Given the description of an element on the screen output the (x, y) to click on. 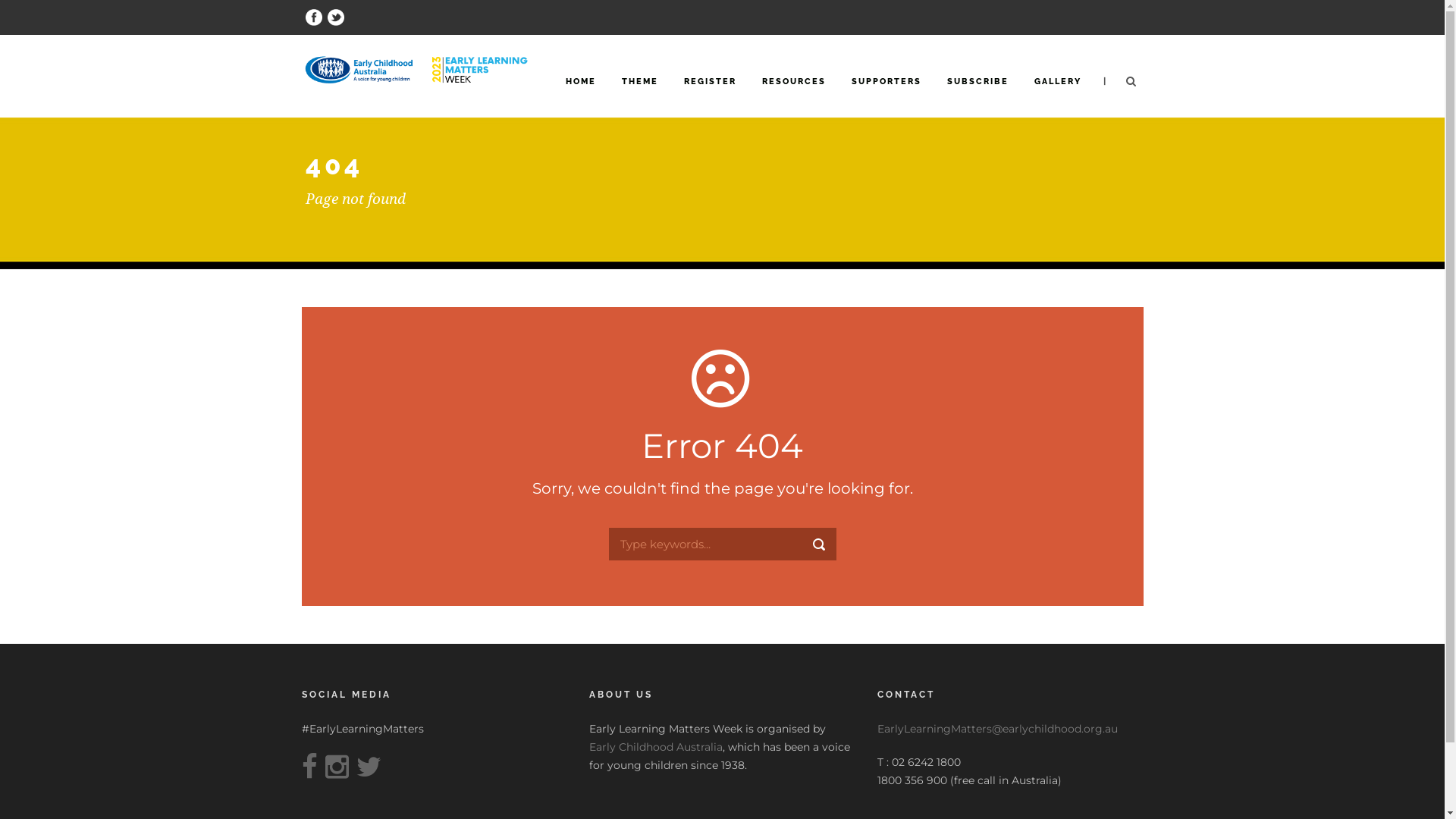
THEME Element type: text (639, 96)
GALLERY Element type: text (1057, 96)
RESOURCES Element type: text (793, 96)
SUPPORTERS Element type: text (885, 96)
EarlyLearningMatters@earlychildhood.org.au Element type: text (997, 728)
REGISTER Element type: text (710, 96)
SUBSCRIBE Element type: text (976, 96)
HOME Element type: text (580, 96)
Early Childhood Australia Element type: text (655, 746)
